Given the description of an element on the screen output the (x, y) to click on. 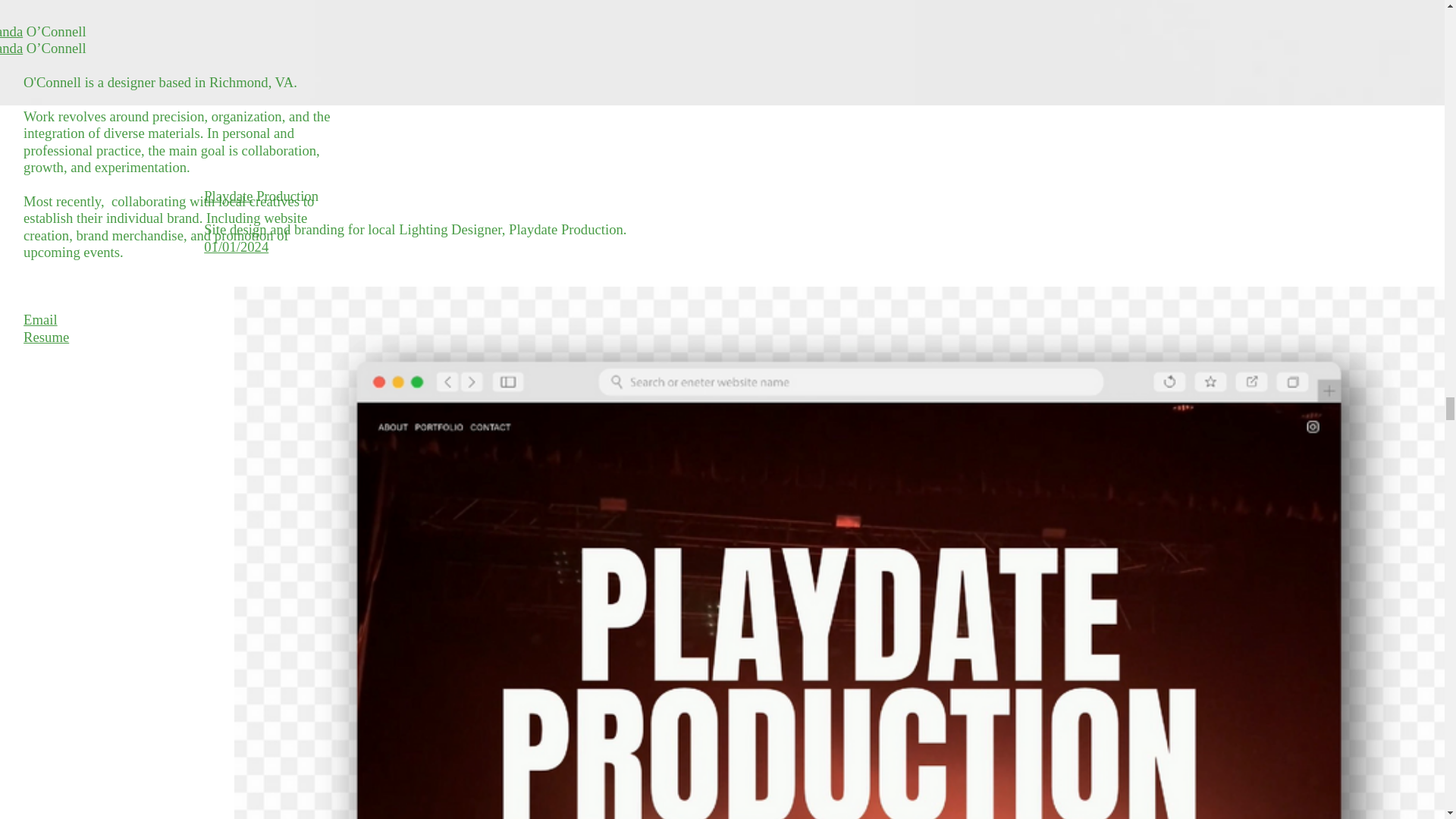
Playdate (227, 195)
